Given the description of an element on the screen output the (x, y) to click on. 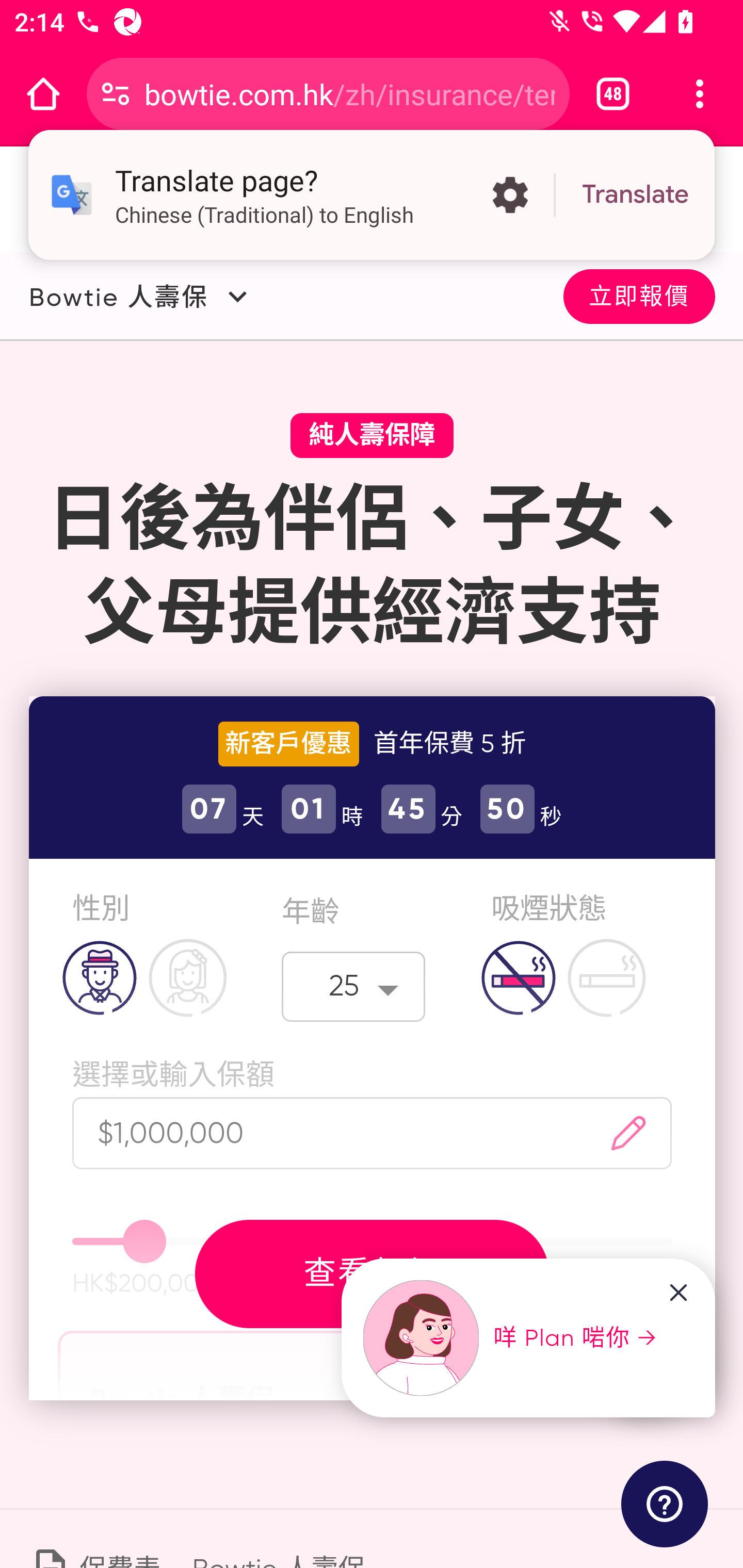
Open the home page (43, 93)
Connection is secure (115, 93)
Switch or close tabs (612, 93)
Customize and control Google Chrome (699, 93)
Translate (634, 195)
More options in the Translate page? (509, 195)
立即報價 (638, 295)
25 (353, 986)
$1,000,000 (321, 1132)
查看報價 (371, 1273)
咩 Plan 啱你 → (510, 1338)
